Given the description of an element on the screen output the (x, y) to click on. 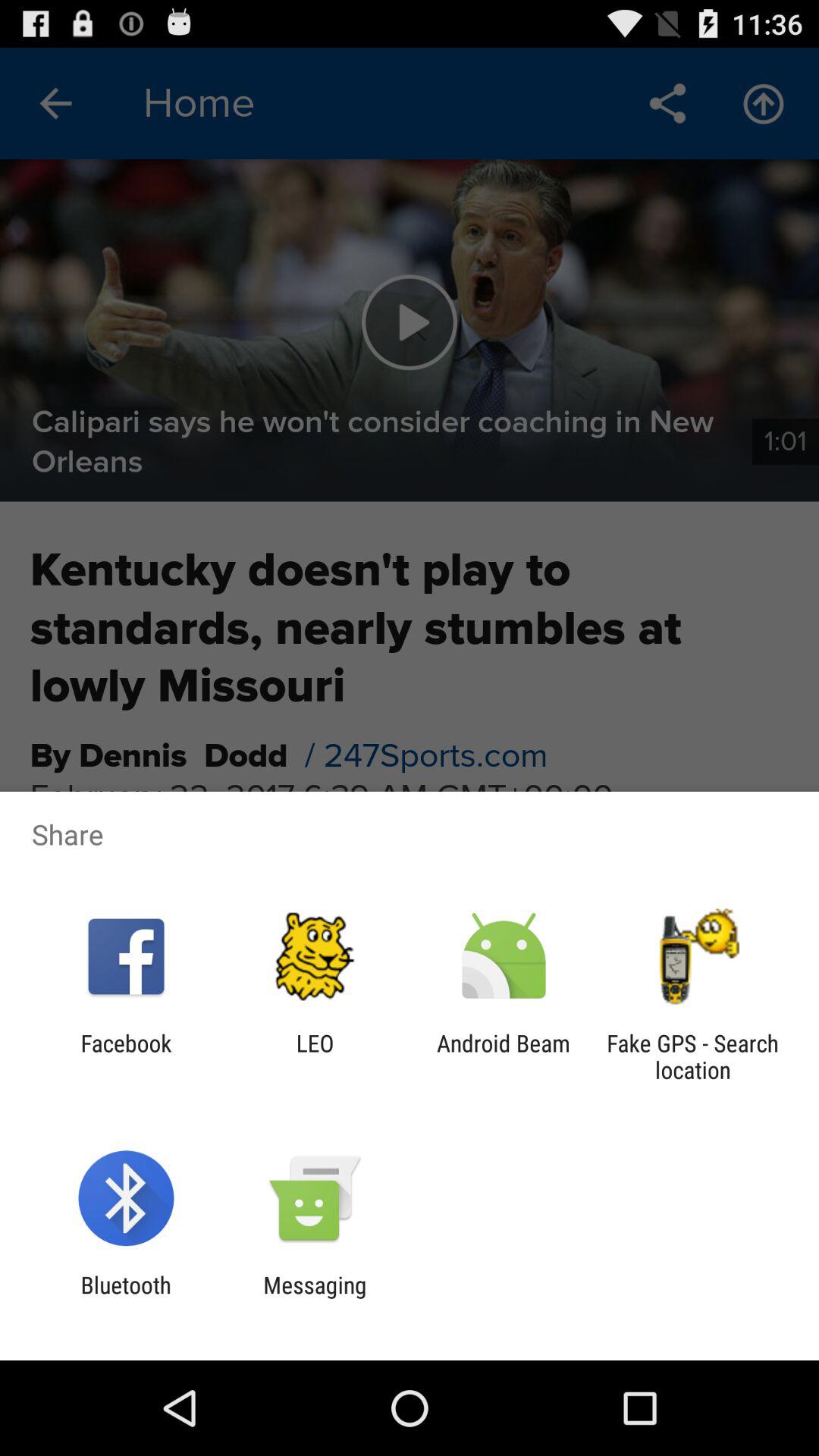
click the icon next to the android beam item (692, 1056)
